Given the description of an element on the screen output the (x, y) to click on. 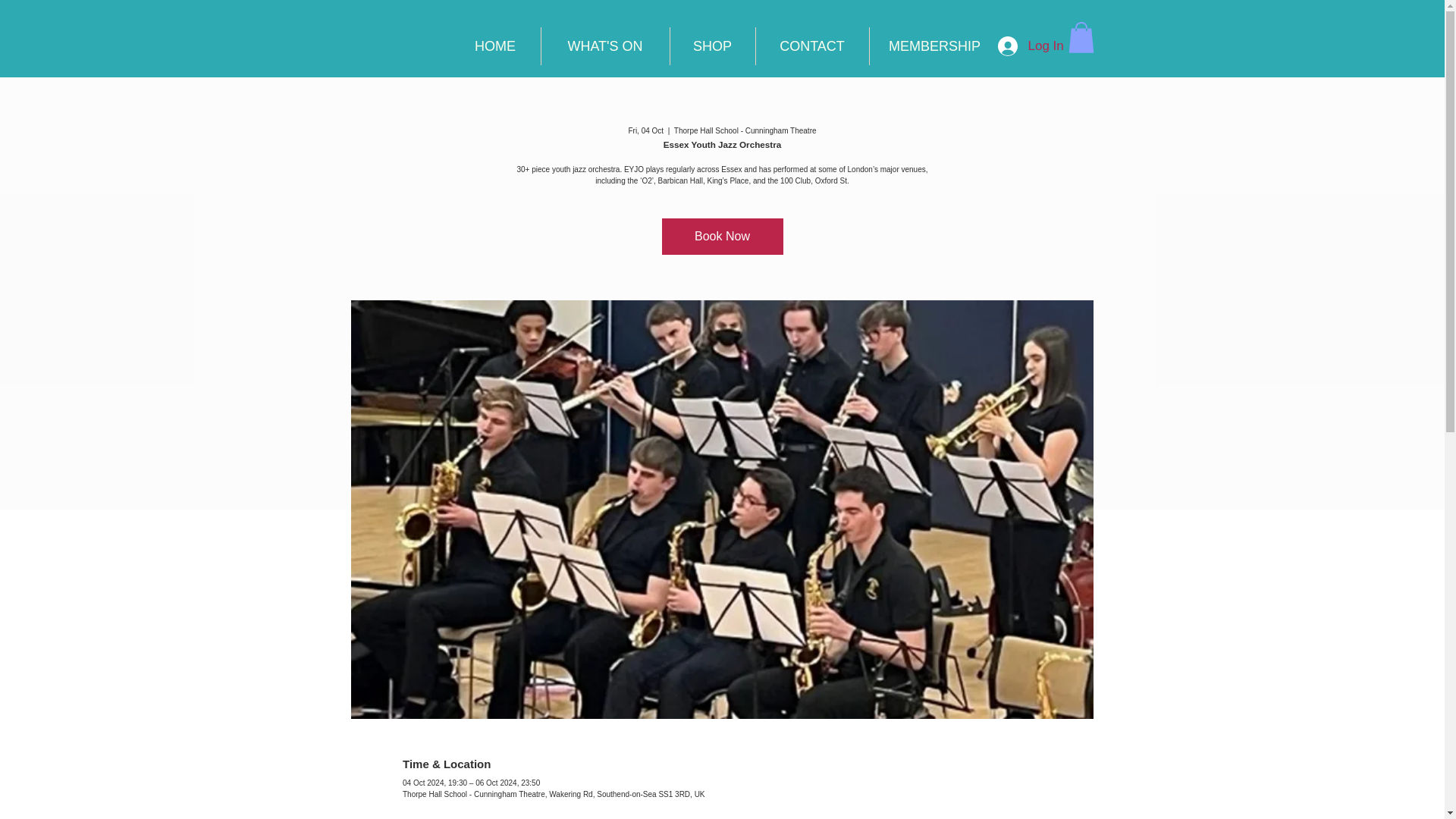
CONTACT (811, 46)
SHOP (712, 46)
Book Now (722, 236)
Log In (1030, 45)
WHAT'S ON (605, 46)
HOME (494, 46)
